Given the description of an element on the screen output the (x, y) to click on. 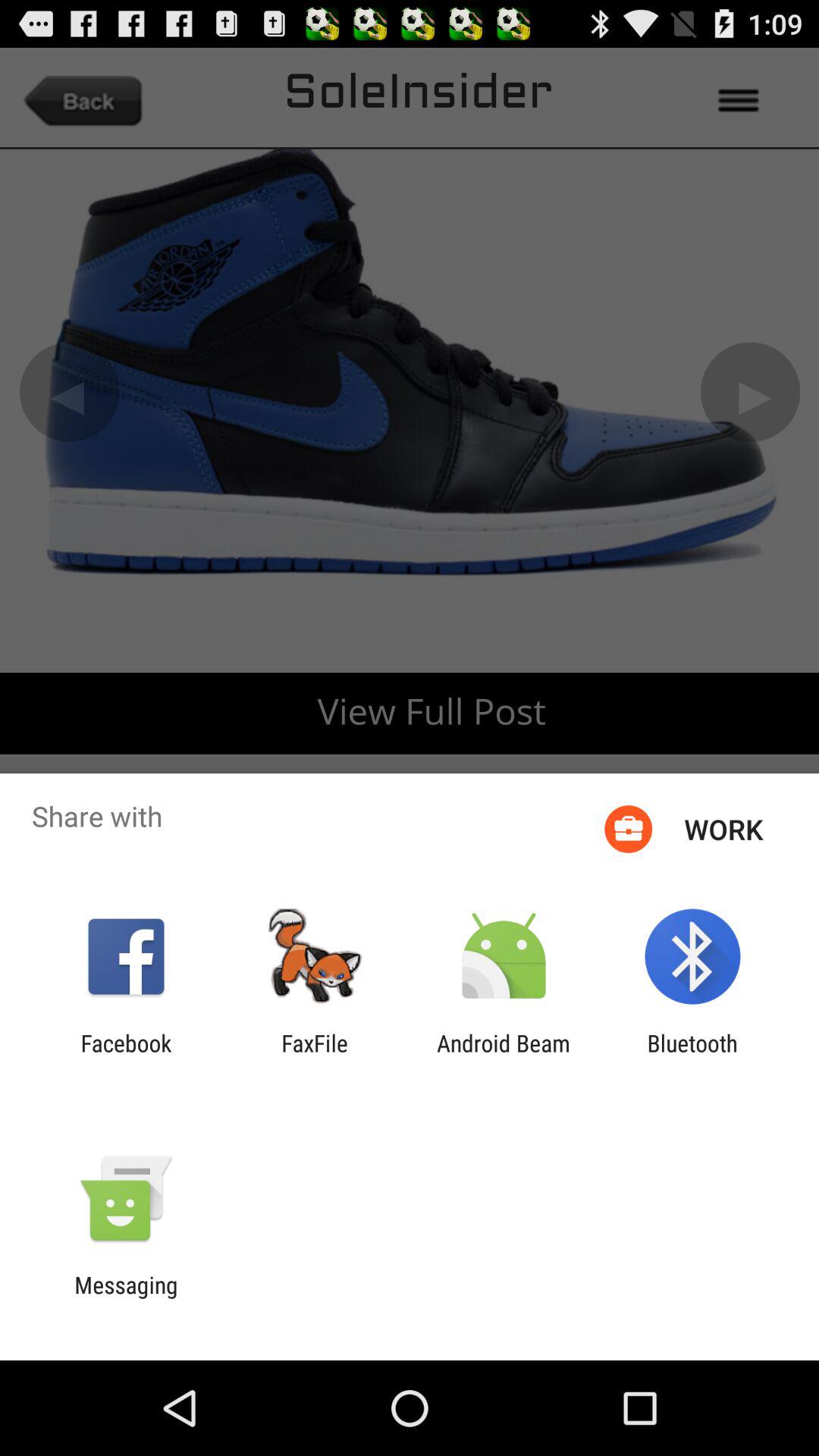
open item at the bottom right corner (692, 1056)
